Given the description of an element on the screen output the (x, y) to click on. 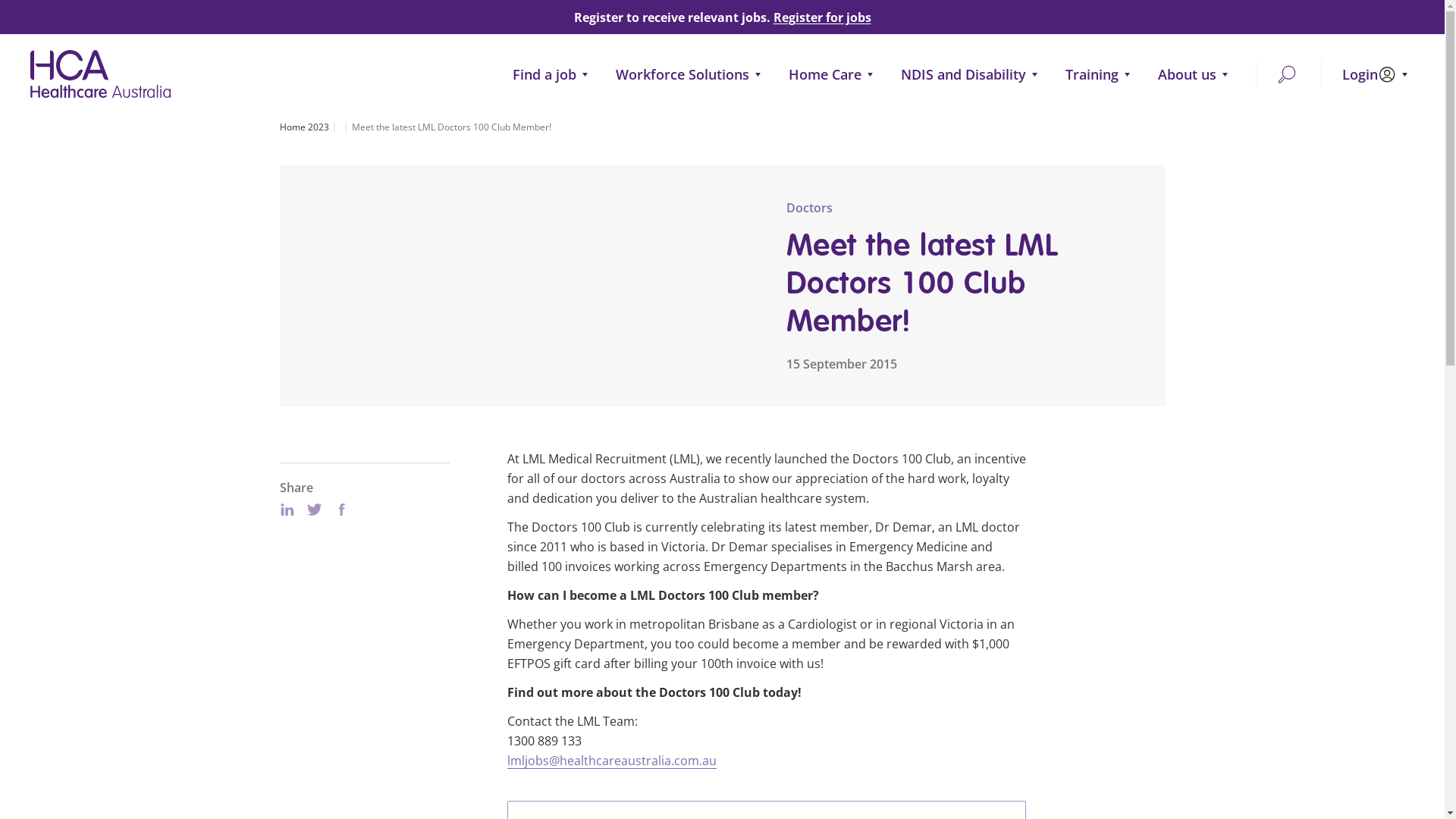
Doctors Element type: text (808, 207)
facebook Element type: hover (340, 509)
twitter Element type: hover (313, 509)
NDIS and Disability Element type: text (972, 73)
Home Care Element type: text (833, 73)
Training Element type: text (1100, 73)
Register for jobs Element type: text (822, 16)
Find a job Element type: text (553, 73)
Workforce Solutions Element type: text (691, 73)
About us Element type: text (1195, 73)
lmljobs@healthcareaustralia.com.au Element type: text (610, 760)
Home 2023 Element type: text (306, 126)
linkedin Element type: hover (286, 509)
